Given the description of an element on the screen output the (x, y) to click on. 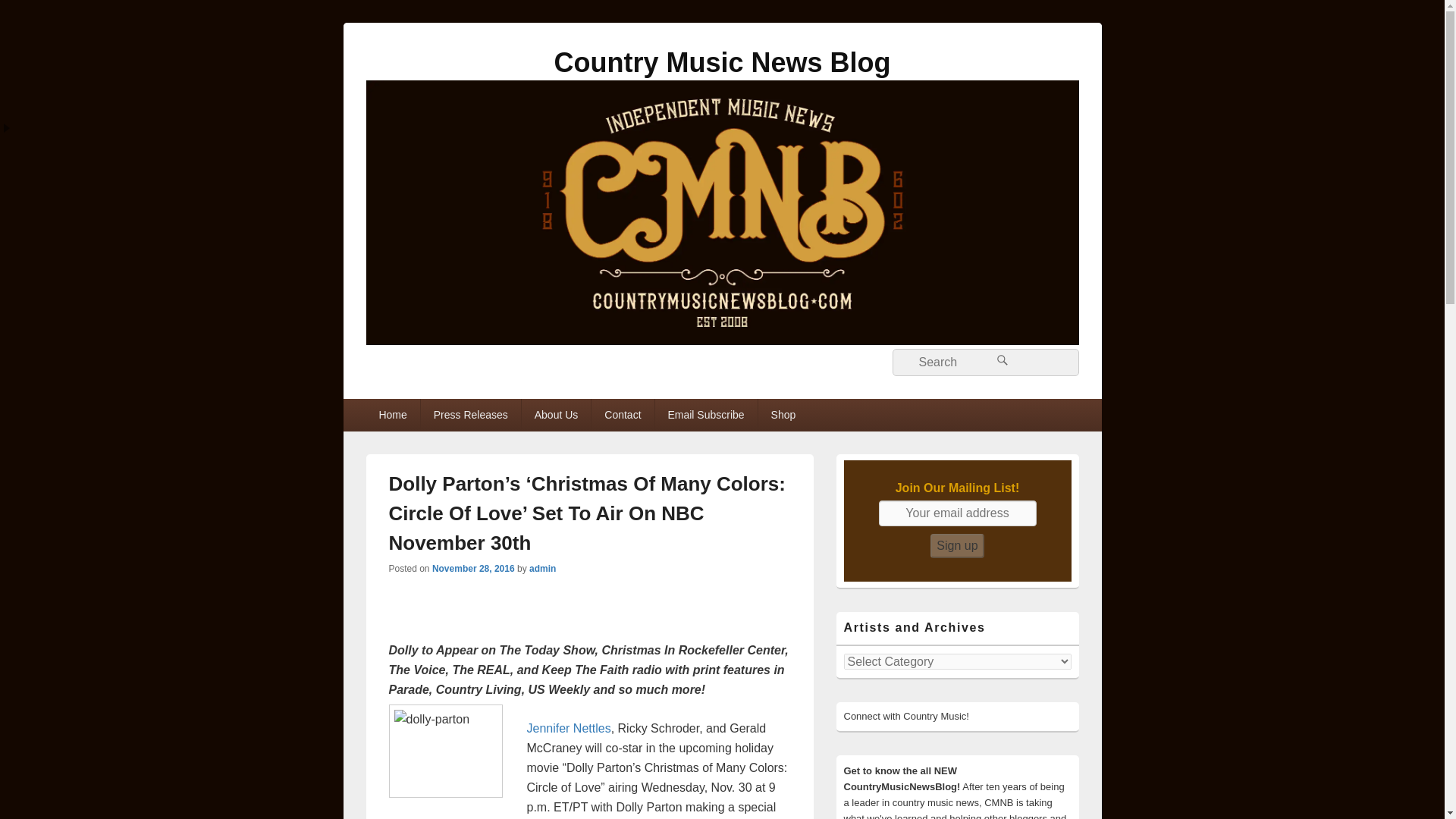
Home (392, 414)
Shop (783, 414)
admin (542, 568)
Press Releases (470, 414)
Sign up (957, 545)
Contact (622, 414)
Sign up (957, 545)
Country Music News Blog (721, 61)
Email Subscribe (706, 414)
View all posts by admin (542, 568)
November 28, 2016 (473, 568)
Search for: (984, 361)
8:56 am (473, 568)
Jennifer Nettles (567, 727)
About Us (556, 414)
